Given the description of an element on the screen output the (x, y) to click on. 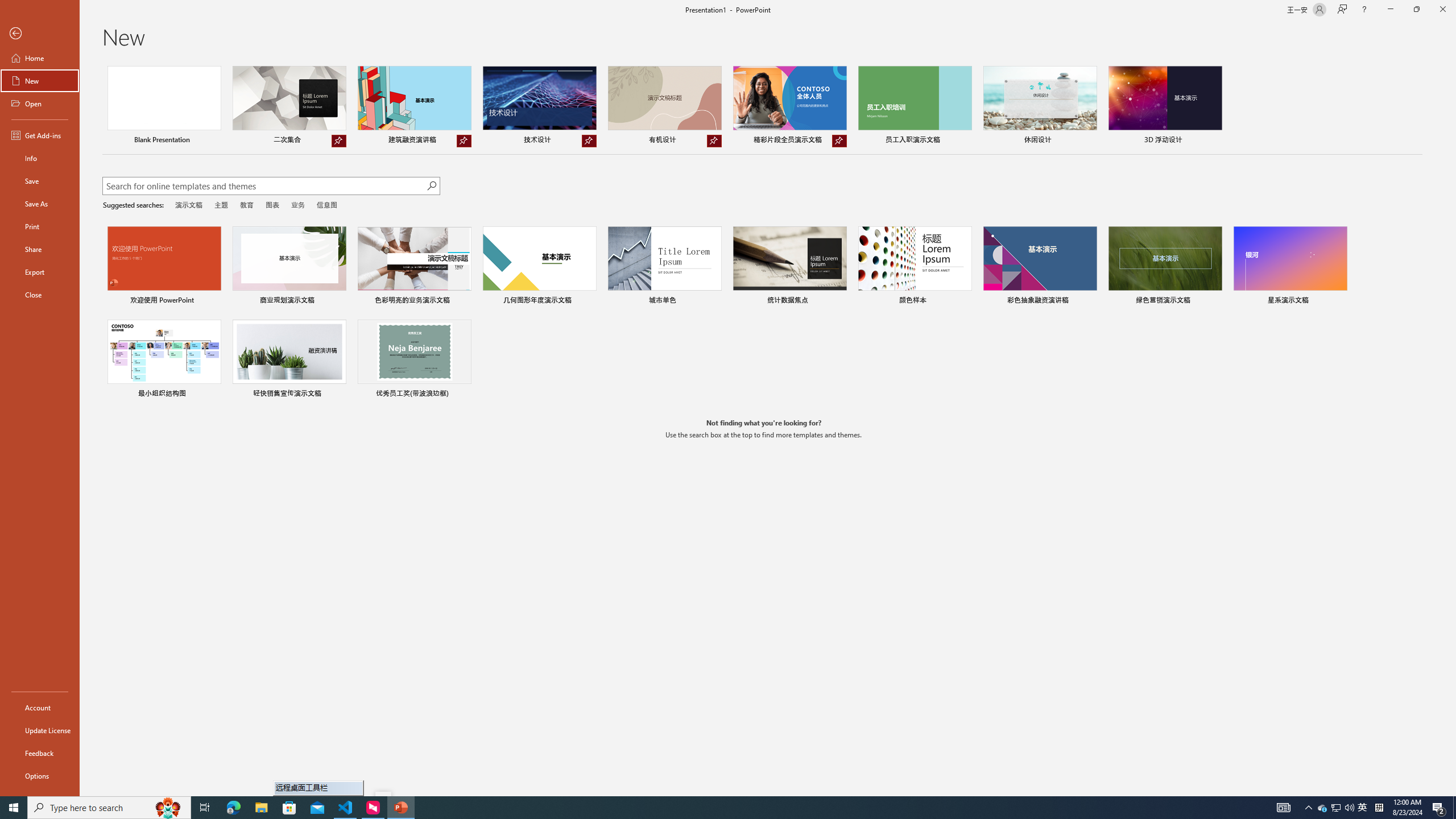
Print (40, 225)
Search for online templates and themes (264, 187)
Save As (40, 203)
